Given the description of an element on the screen output the (x, y) to click on. 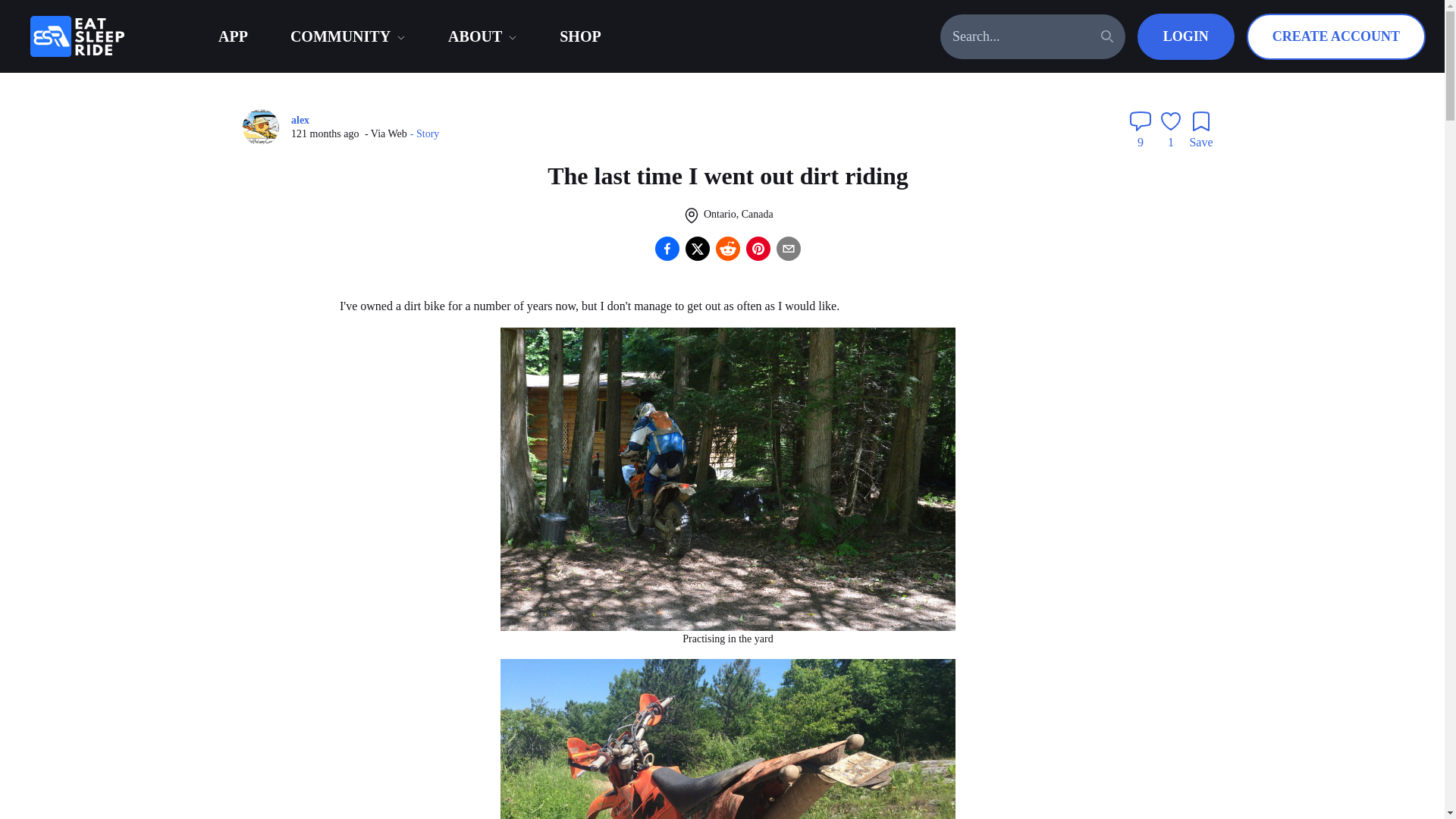
alex (299, 120)
COMMUNITY (339, 36)
alex (267, 126)
Eat Sleep Ride Home (113, 36)
LOGIN (1185, 36)
Save (1200, 129)
ABOUT (475, 36)
SHOP (579, 36)
9 (1140, 129)
CREATE ACCOUNT (1335, 36)
APP (232, 36)
1 (1170, 129)
- Story (424, 133)
